Given the description of an element on the screen output the (x, y) to click on. 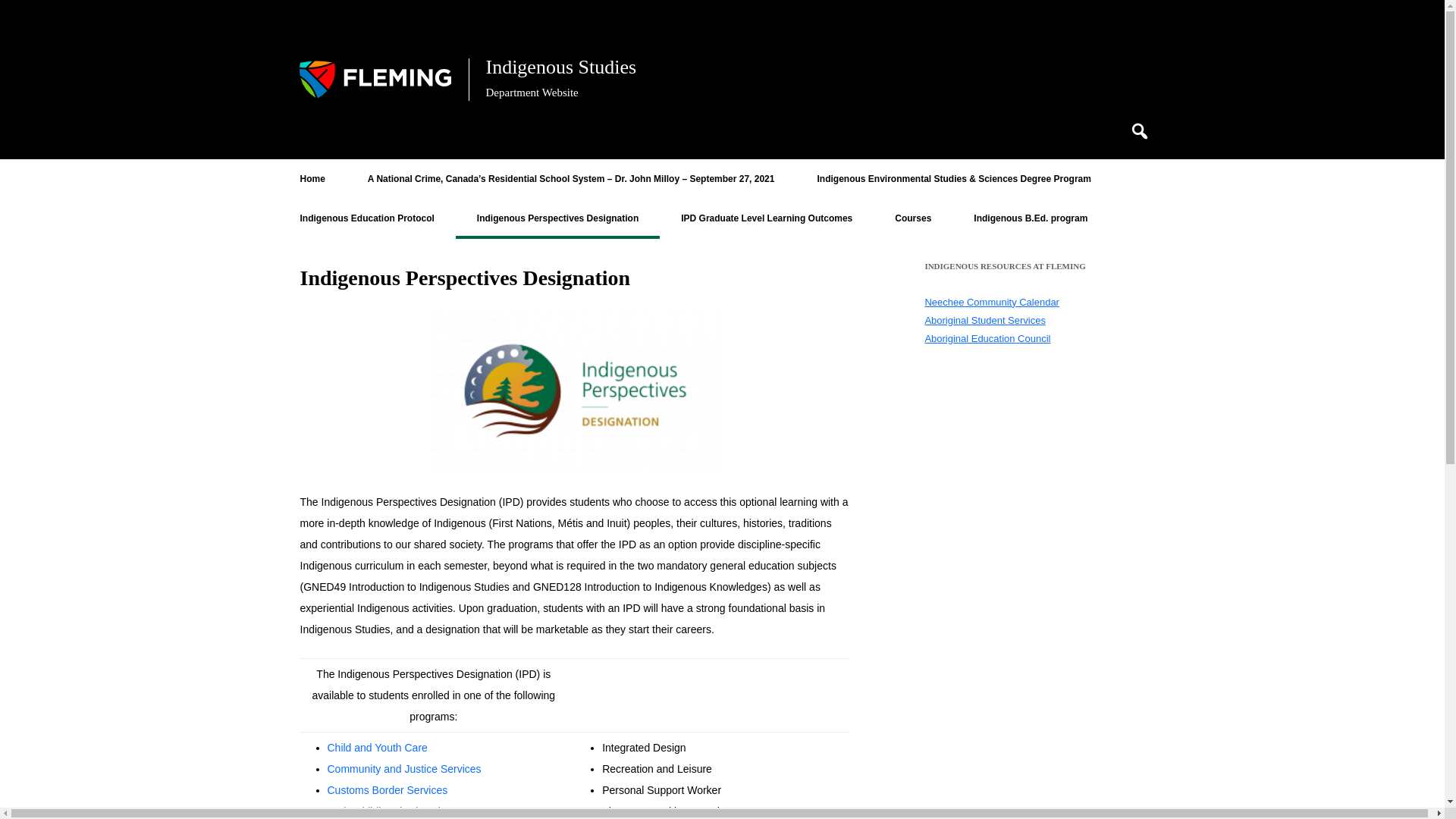
Customs Border Services (387, 789)
Indigenous Studies (560, 68)
Neechee Community Calendar (991, 301)
Aboriginal Education Council (986, 337)
Community and Justice Services (404, 768)
Early Childhood Education (389, 811)
Indigenous Perspectives Designation (557, 218)
Aboriginal Student Services (984, 319)
Indigenous B.Ed. program (1030, 218)
Indigenous Education Protocol (367, 218)
Indigenous Studies (375, 79)
Child and Youth Care (377, 747)
Indigenous Studies (560, 68)
Courses (912, 218)
